Given the description of an element on the screen output the (x, y) to click on. 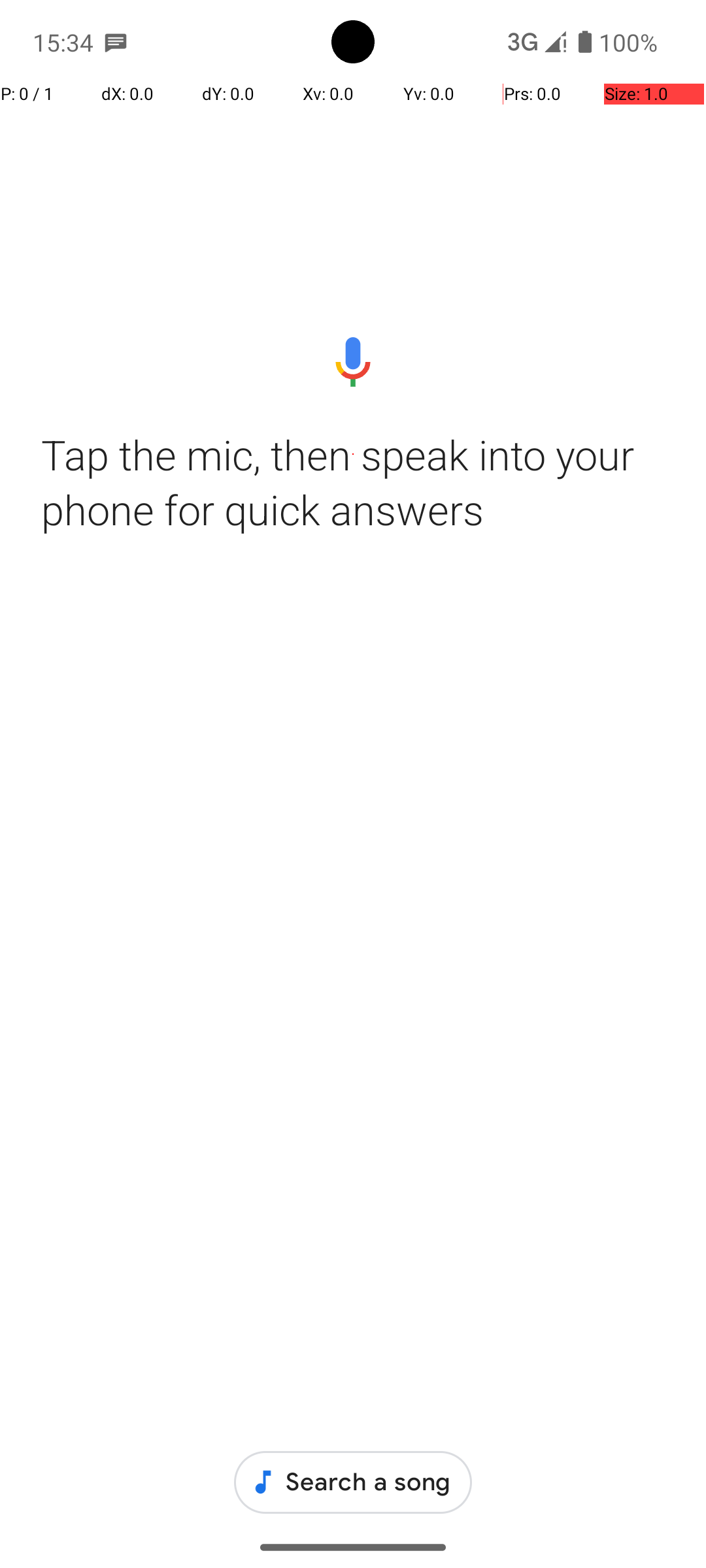
Tap the mic, then speak into your phone for quick answers Element type: android.widget.TextView (352, 481)
Voice search button, tap to speak Element type: android.view.View (352, 361)
Search a song Element type: android.widget.Button (352, 1482)
